Given the description of an element on the screen output the (x, y) to click on. 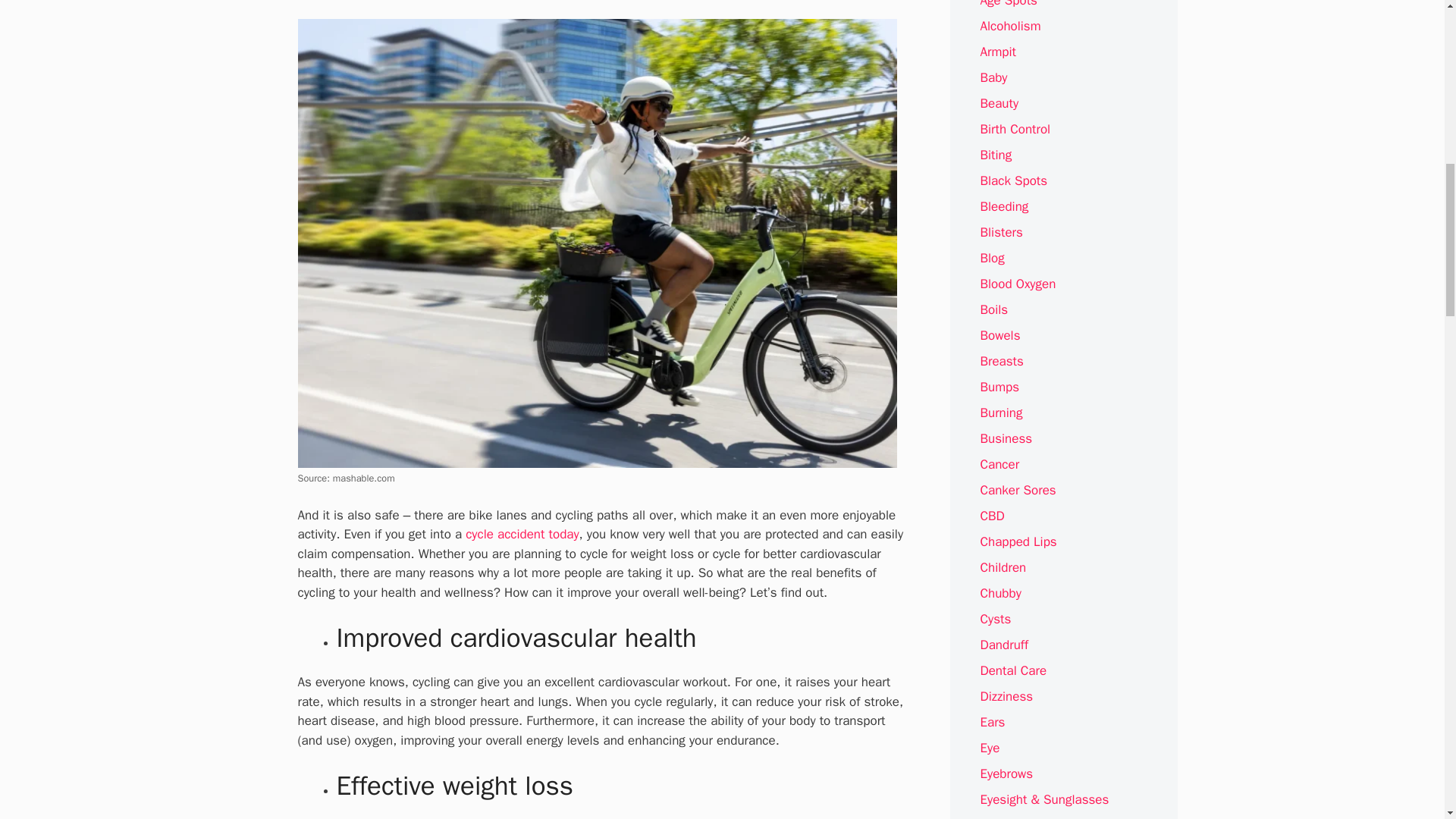
cycle accident today (521, 534)
Age Spots (1007, 4)
Black Spots (1012, 180)
Birth Control (1014, 129)
Armpit (997, 51)
Biting (995, 154)
Baby (993, 77)
Bleeding (1003, 206)
Beauty (998, 103)
Alcoholism (1010, 26)
